Given the description of an element on the screen output the (x, y) to click on. 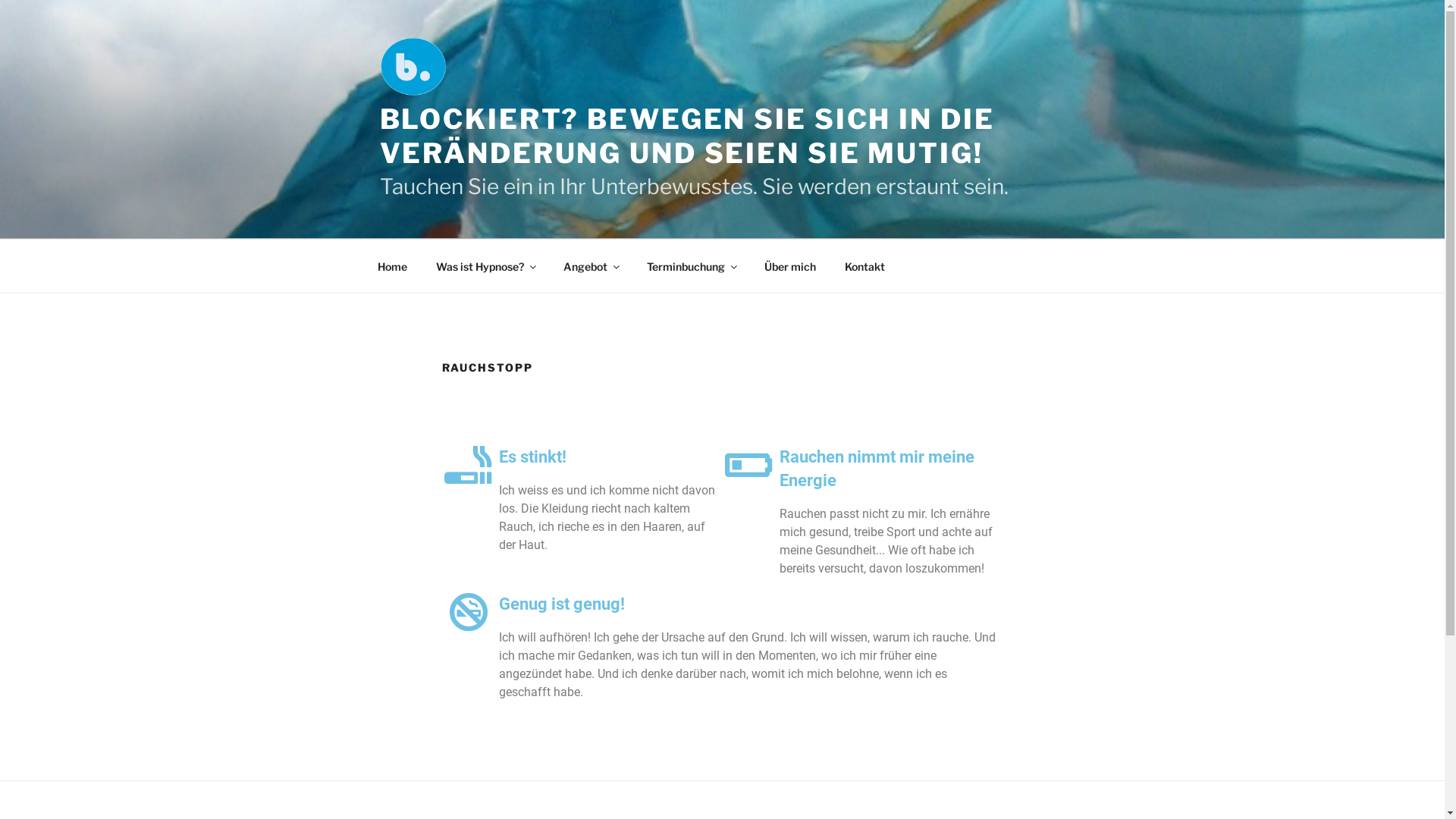
Angebot Element type: text (590, 265)
Kontakt Element type: text (864, 265)
Home Element type: text (392, 265)
Terminbuchung Element type: text (691, 265)
Was ist Hypnose? Element type: text (485, 265)
